Given the description of an element on the screen output the (x, y) to click on. 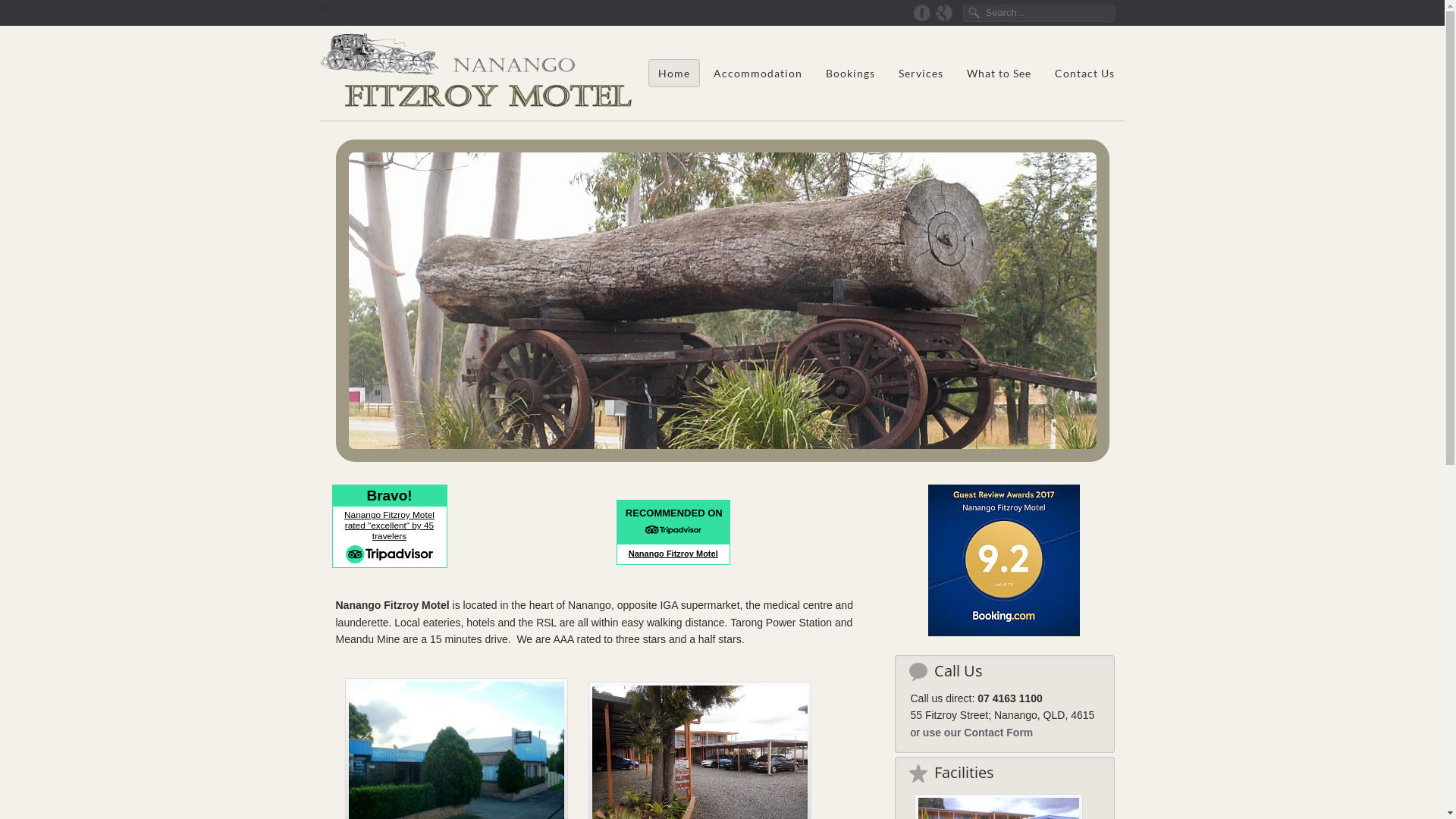
Services Element type: text (919, 72)
Google Element type: hover (942, 12)
Facebook Element type: hover (921, 12)
Nanango Fitzroy Motel rated "excellent" by 45 travelers Element type: text (389, 525)
Accommodation Element type: text (756, 72)
use our Contact Form Element type: text (977, 732)
Bookings Element type: text (849, 72)
Home Element type: text (673, 73)
Contact Us Element type: text (1083, 72)
What to See Element type: text (998, 72)
